Given the description of an element on the screen output the (x, y) to click on. 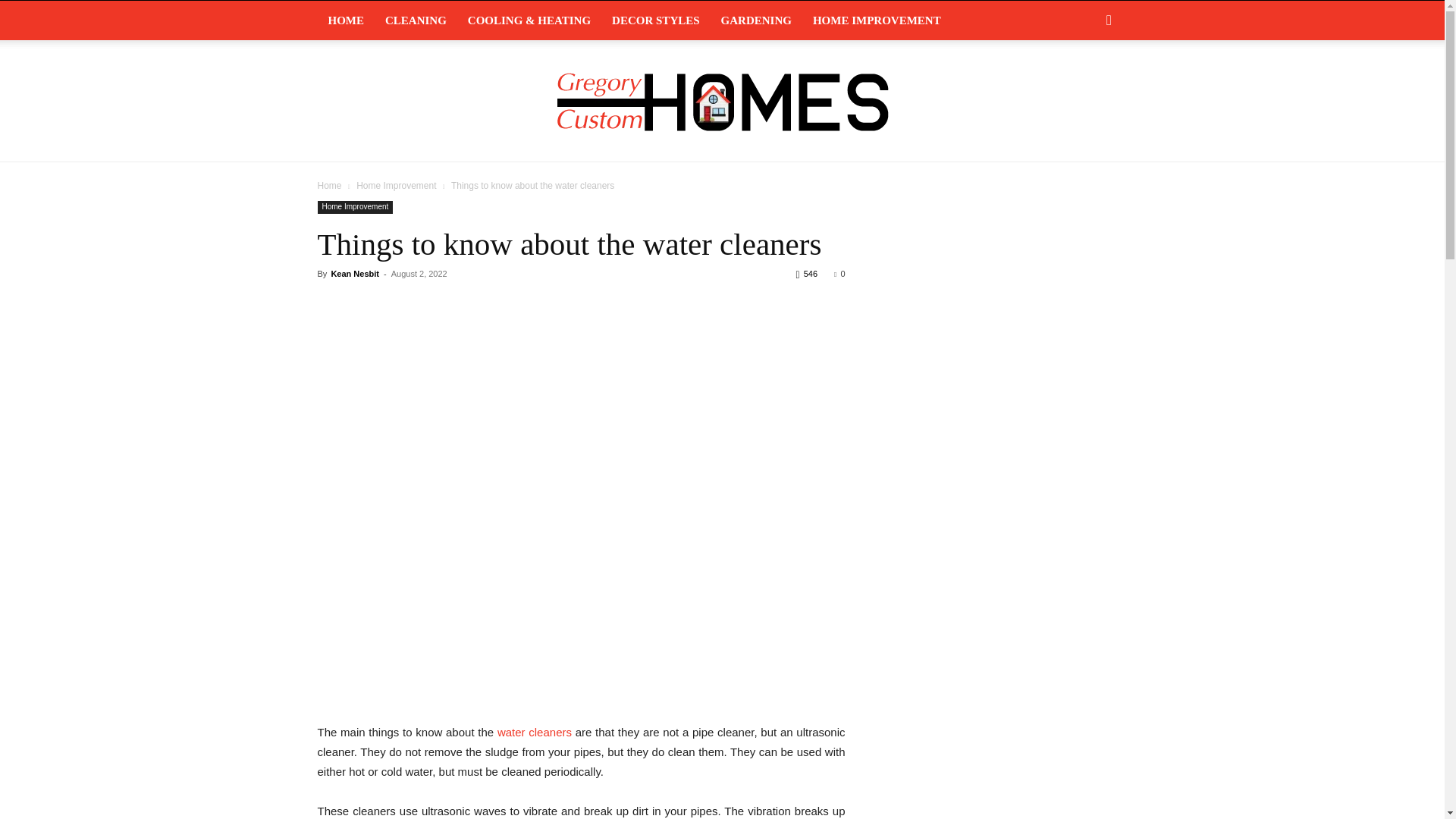
CLEANING (415, 20)
Home (328, 185)
Home Improvement (395, 185)
Kean Nesbit (354, 273)
GARDENING (756, 20)
Search (1085, 82)
HOME (345, 20)
0 (839, 273)
water cleaners (534, 731)
Home Improvement (355, 206)
DECOR STYLES (655, 20)
View all posts in Home Improvement (395, 185)
HOME IMPROVEMENT (877, 20)
